Given the description of an element on the screen output the (x, y) to click on. 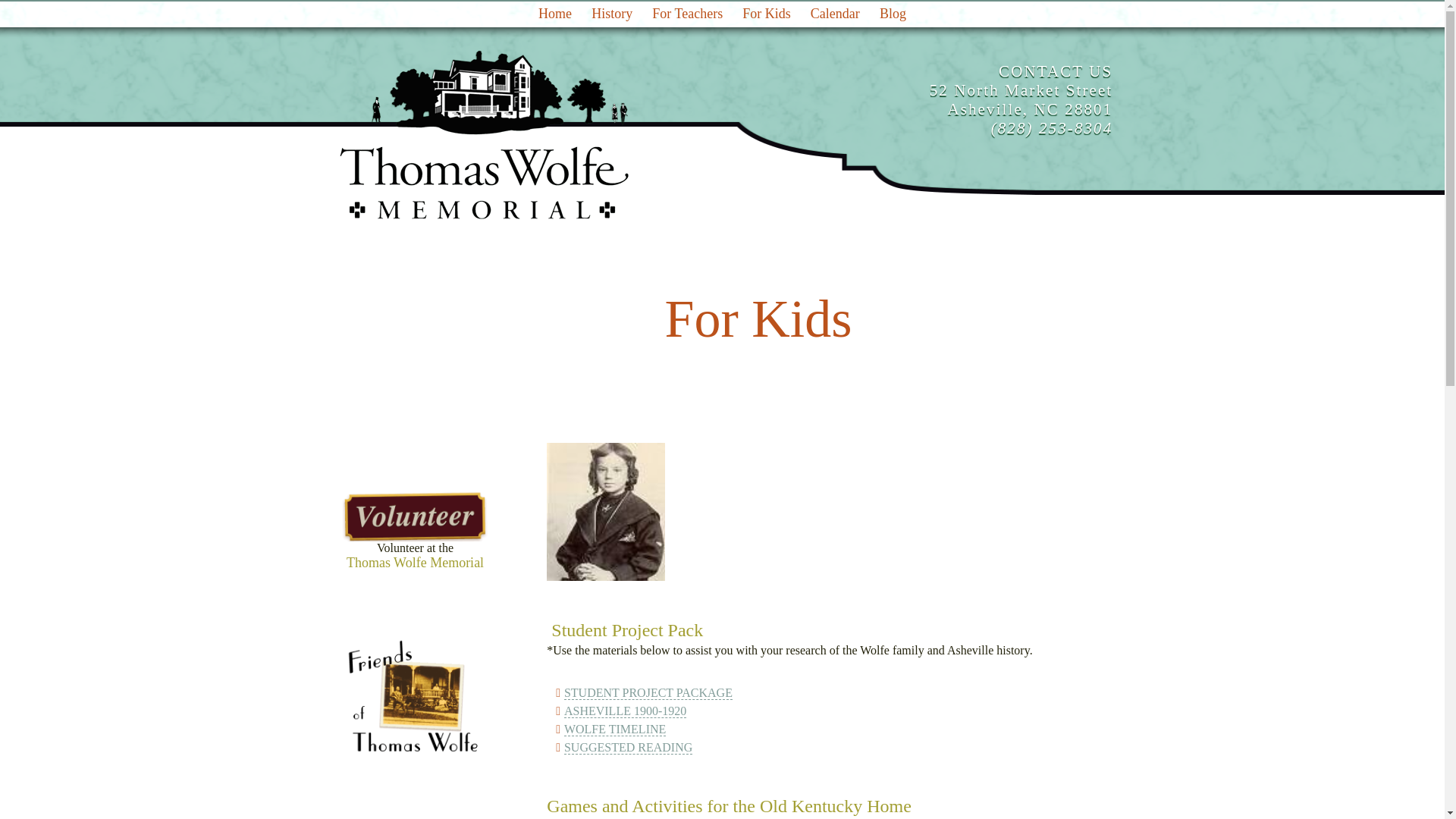
Calendar (414, 531)
Visit the Thomas Wolfe Memorial Home Page (834, 13)
Find out how to become a FRIEND OF THOMAS WOLFE (480, 136)
WOLFE TIMELINE (414, 694)
Blog (614, 729)
SUGGESTED READING (892, 13)
ASHEVILLE 1900-1920 (628, 747)
Contact the Thomas Wolfe Memorial (624, 711)
STUDENT PROJECT PACKAGE (1020, 100)
History (648, 693)
For Teachers (611, 13)
Home (687, 13)
